Given the description of an element on the screen output the (x, y) to click on. 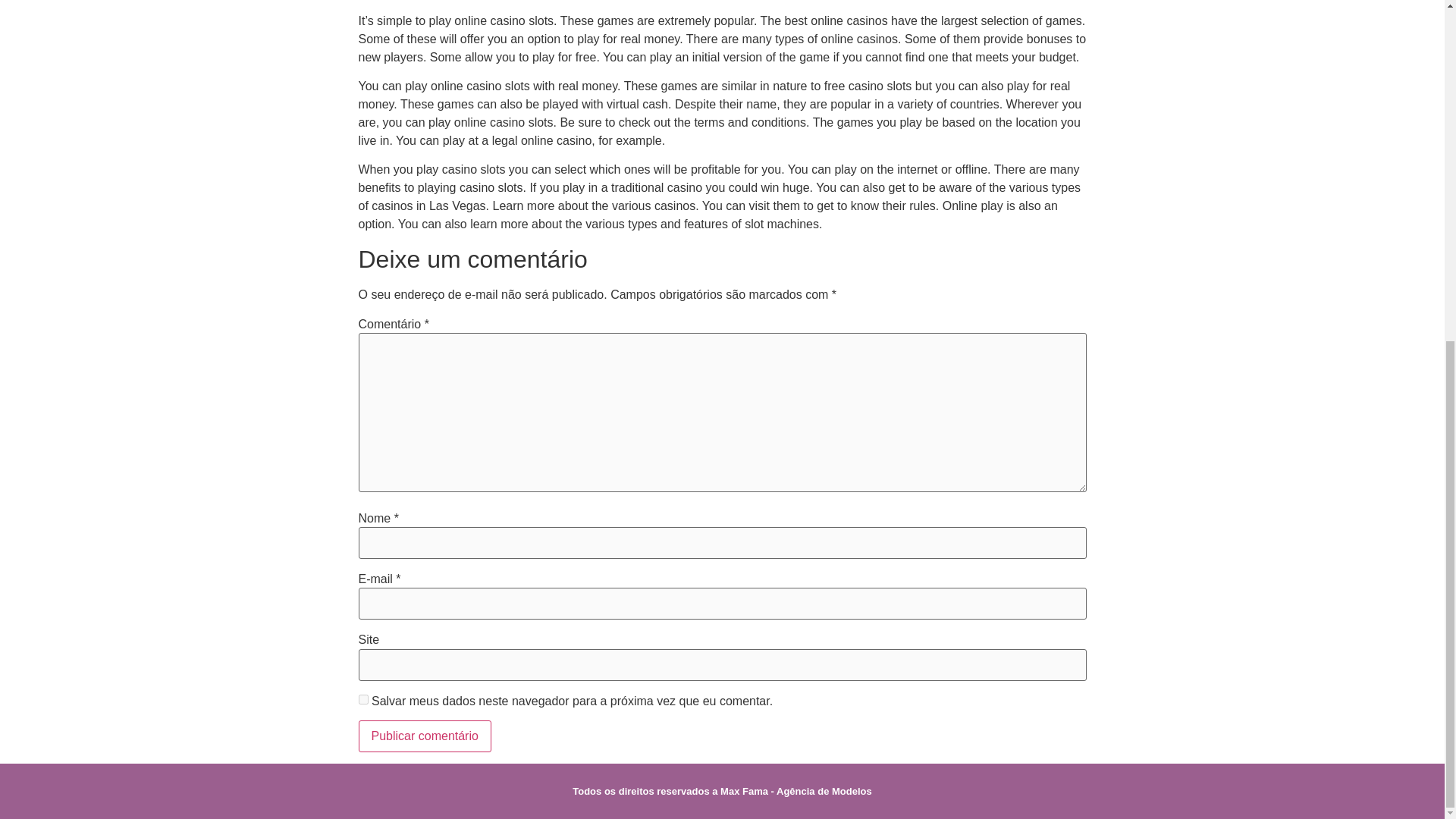
yes (363, 699)
